Given the description of an element on the screen output the (x, y) to click on. 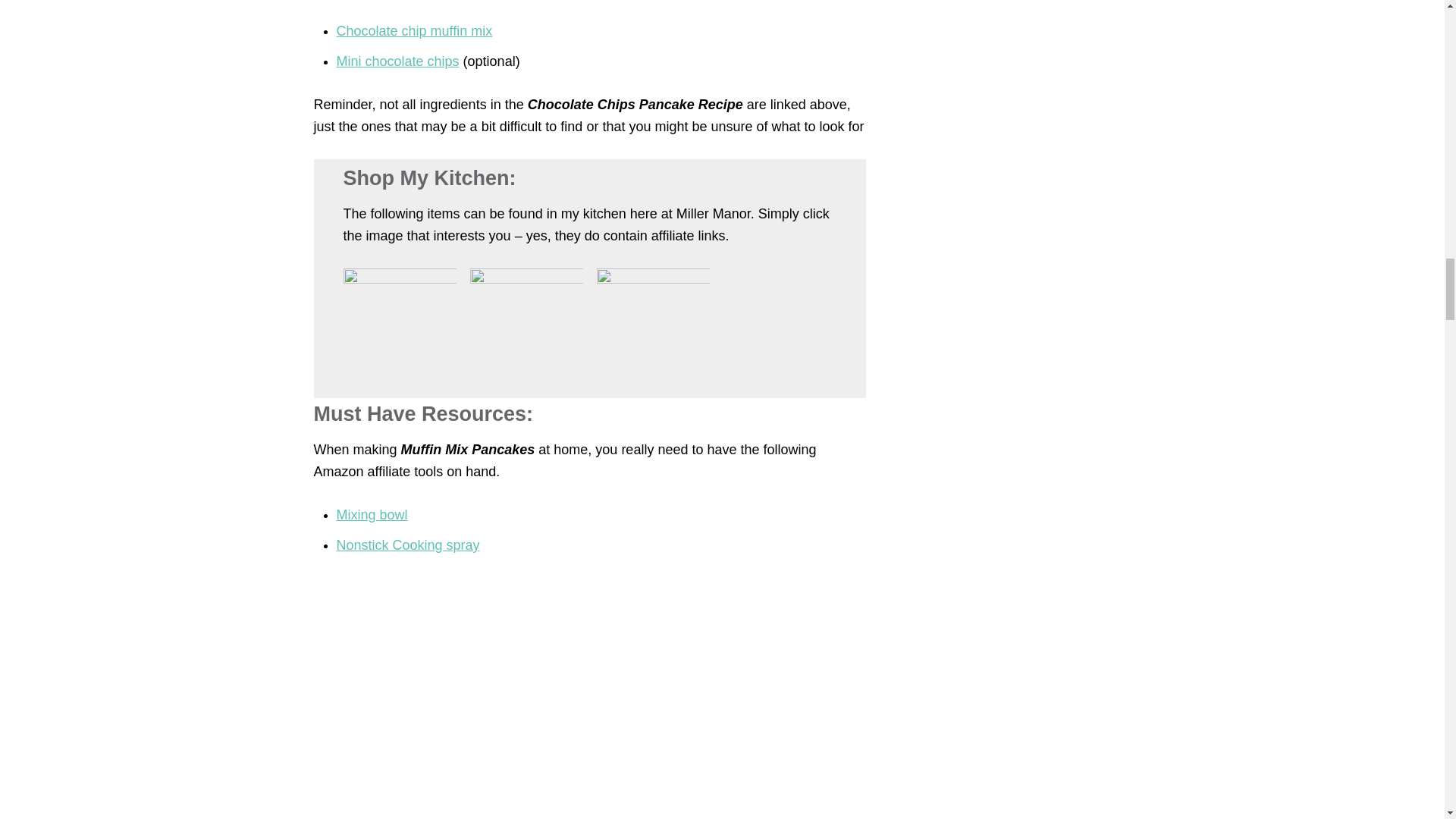
Mixing bowl (371, 514)
Nonstick Cooking spray (408, 544)
Mini chocolate chips (398, 61)
Chocolate chip muffin mix (414, 30)
